Given the description of an element on the screen output the (x, y) to click on. 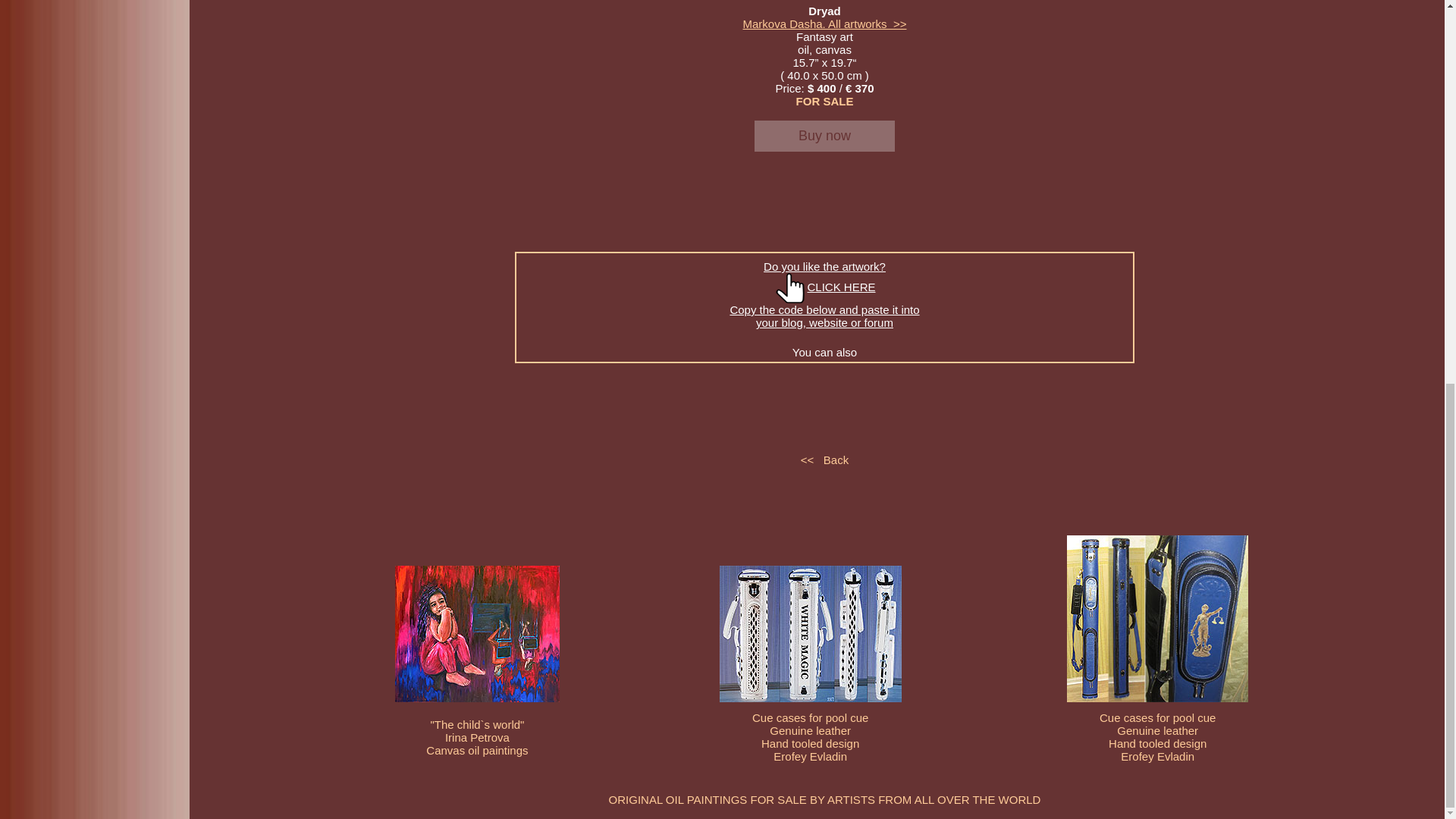
Buy now (824, 135)
Click To Visit Artist Gallery (824, 23)
Buy now (824, 135)
Advertisement (825, 233)
